Given the description of an element on the screen output the (x, y) to click on. 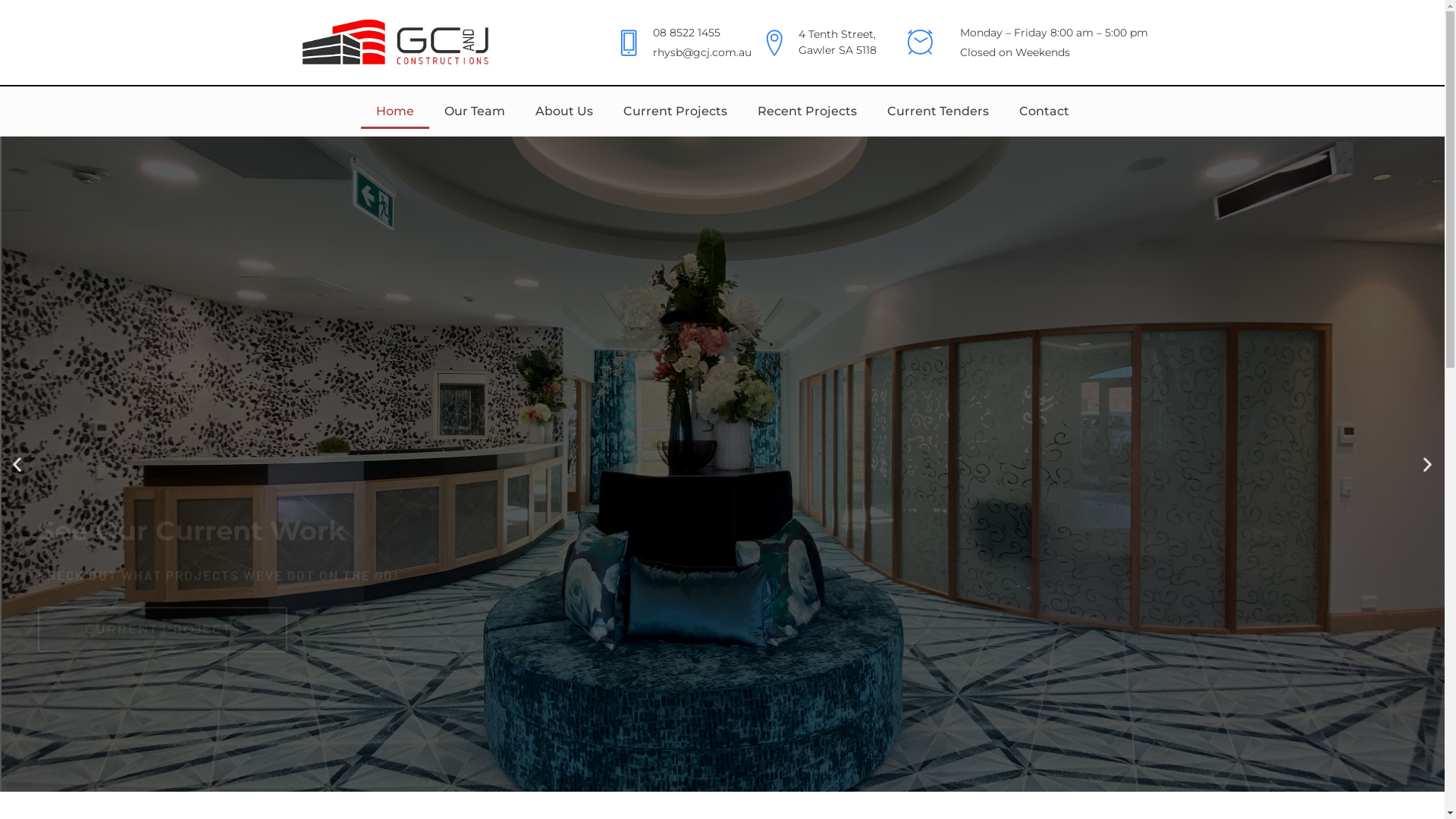
About Us Element type: text (564, 111)
Recent Projects Element type: text (806, 111)
Current Projects Element type: text (675, 111)
Our Team Element type: text (474, 111)
Contact Element type: text (1044, 111)
Current Tenders Element type: text (938, 111)
Home Element type: text (394, 111)
